Given the description of an element on the screen output the (x, y) to click on. 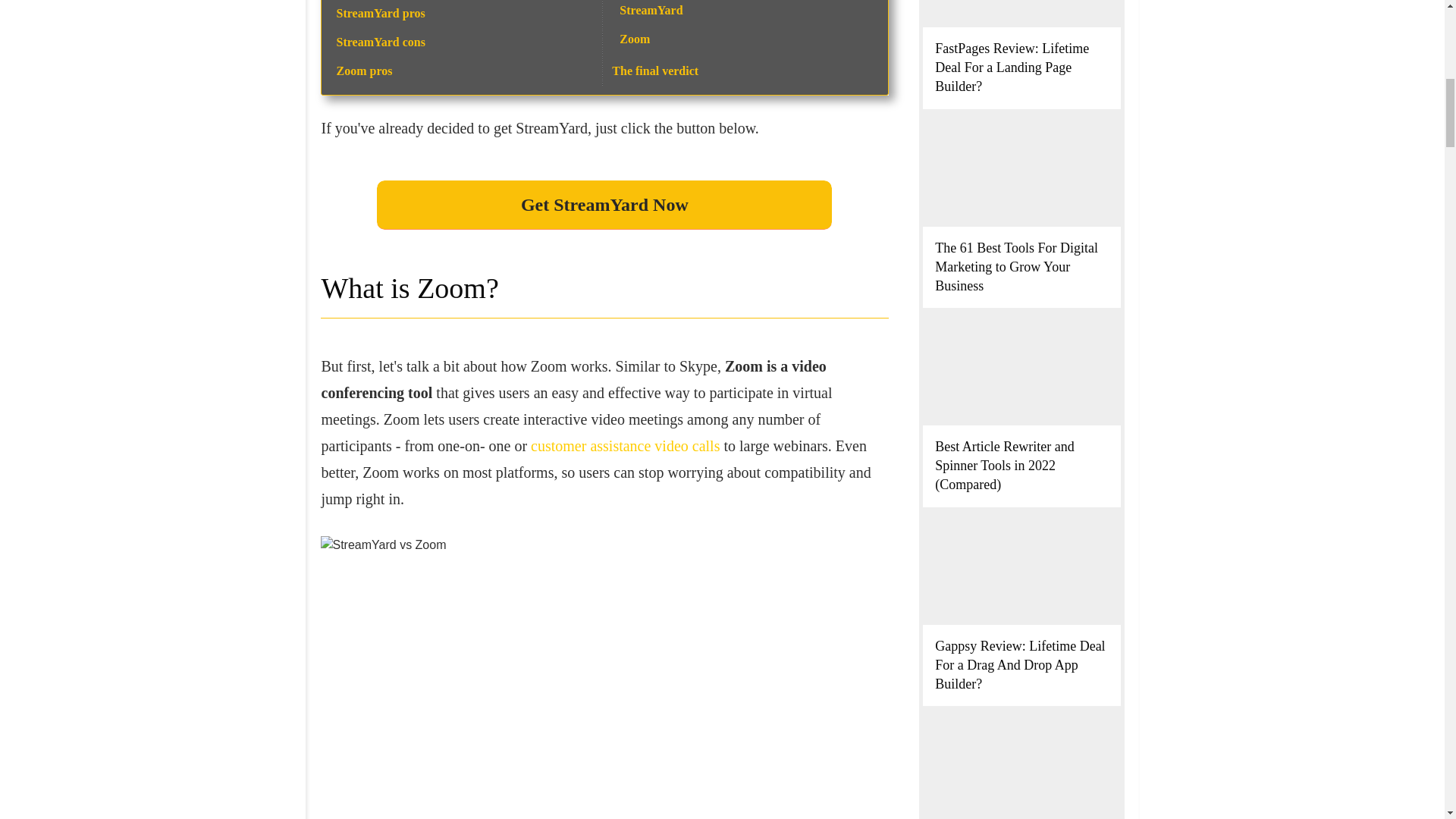
StreamYard cons (380, 42)
Zoom pros (364, 70)
StreamYard (651, 10)
StreamYard pros (380, 12)
The final verdict (654, 70)
FastPages Review: Lifetime Deal For a Landing Page Builder? (1011, 67)
Zoom (634, 38)
